Given the description of an element on the screen output the (x, y) to click on. 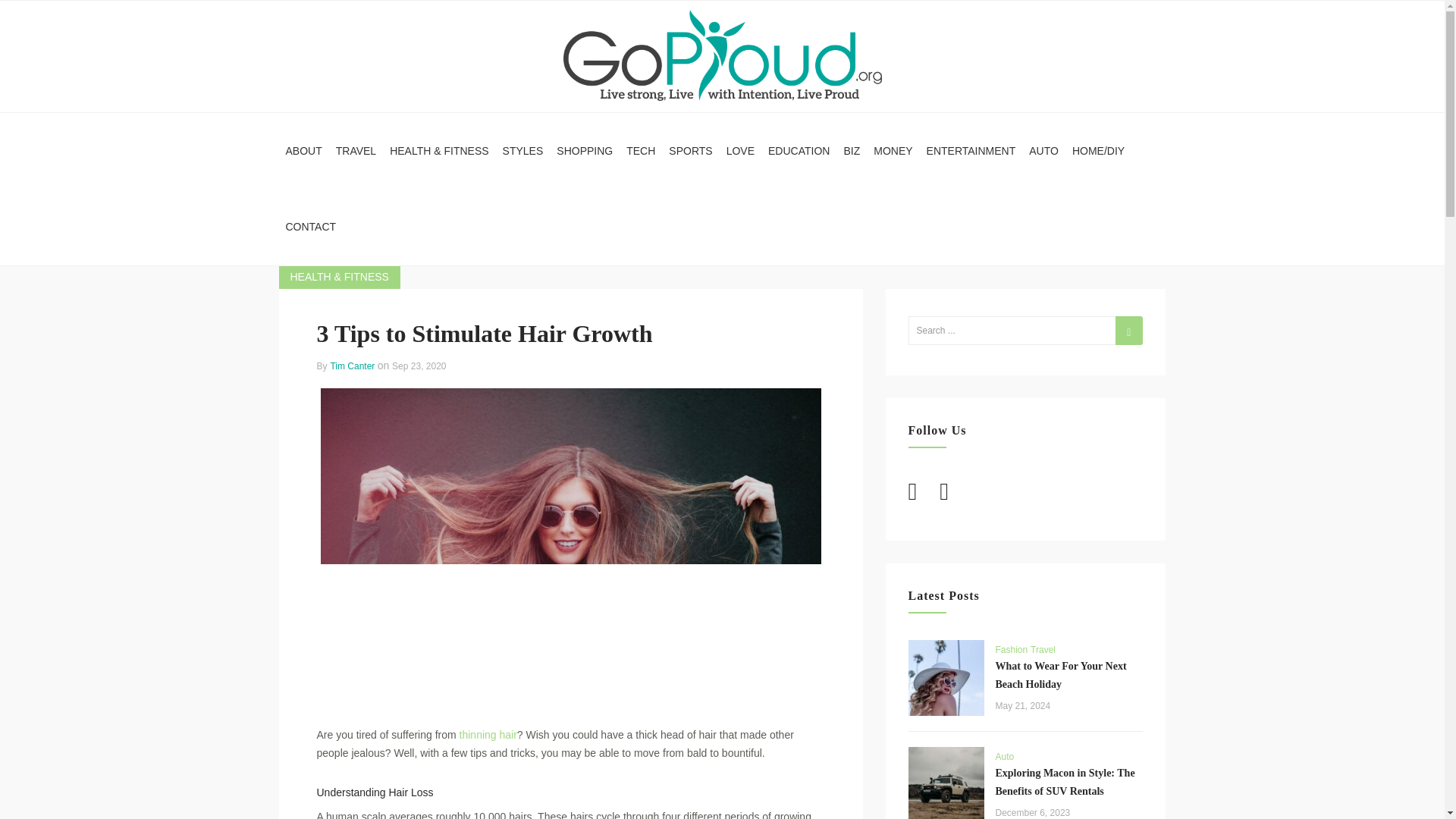
ENTERTAINMENT (971, 151)
Tim Canter (353, 366)
EDUCATION (798, 151)
SHOPPING (585, 151)
thinning hair (488, 734)
